Given the description of an element on the screen output the (x, y) to click on. 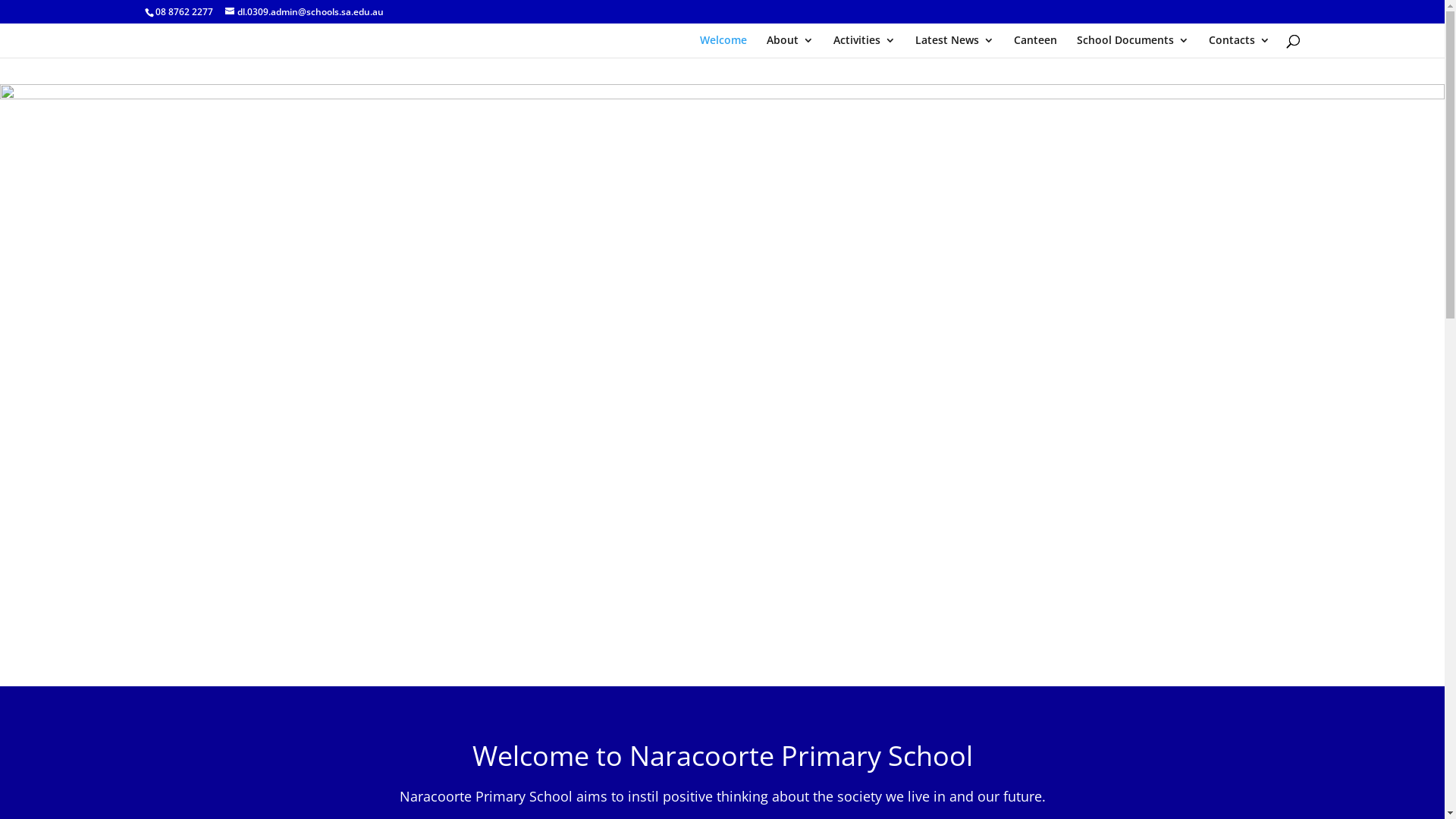
dl.0309.admin@schools.sa.edu.au Element type: text (303, 11)
Canteen Element type: text (1034, 45)
Welcome Element type: text (722, 45)
Naracoorte Primary School (1) Element type: hover (722, 385)
Contacts Element type: text (1239, 45)
About Element type: text (788, 45)
Activities Element type: text (863, 45)
Latest News Element type: text (953, 45)
School Documents Element type: text (1132, 45)
